Given the description of an element on the screen output the (x, y) to click on. 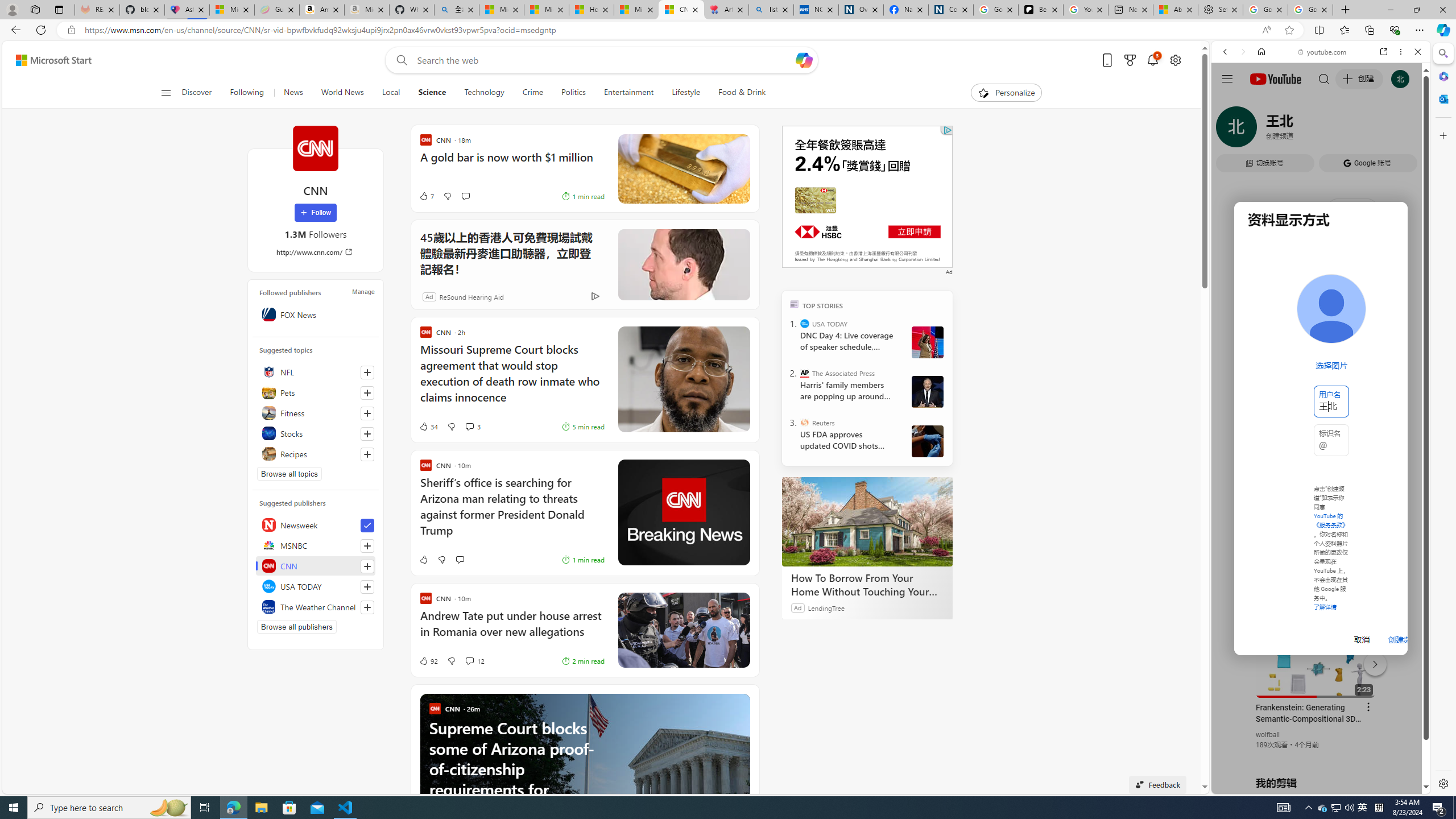
Follow this source (367, 607)
34 Like (427, 426)
Follow this topic (367, 454)
Class: button-glyph (165, 92)
USA TODAY (804, 323)
Recipes (315, 453)
View comments 3 Comment (472, 426)
Trailer #2 [HD] (1320, 336)
